Given the description of an element on the screen output the (x, y) to click on. 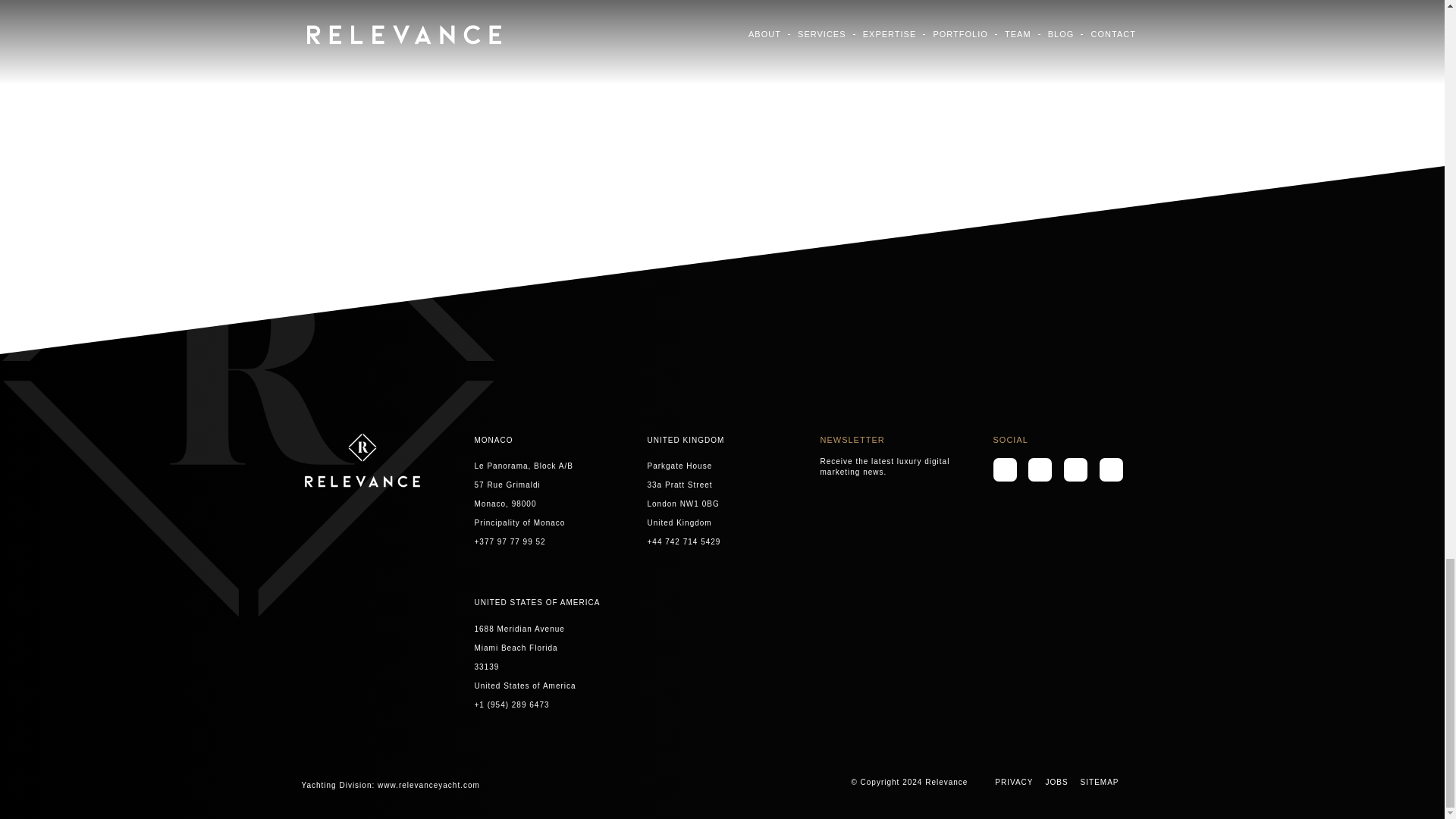
UNITED KINGDOM (686, 439)
UNITED STATES OF AMERICA (536, 602)
MONACO (493, 439)
